Given the description of an element on the screen output the (x, y) to click on. 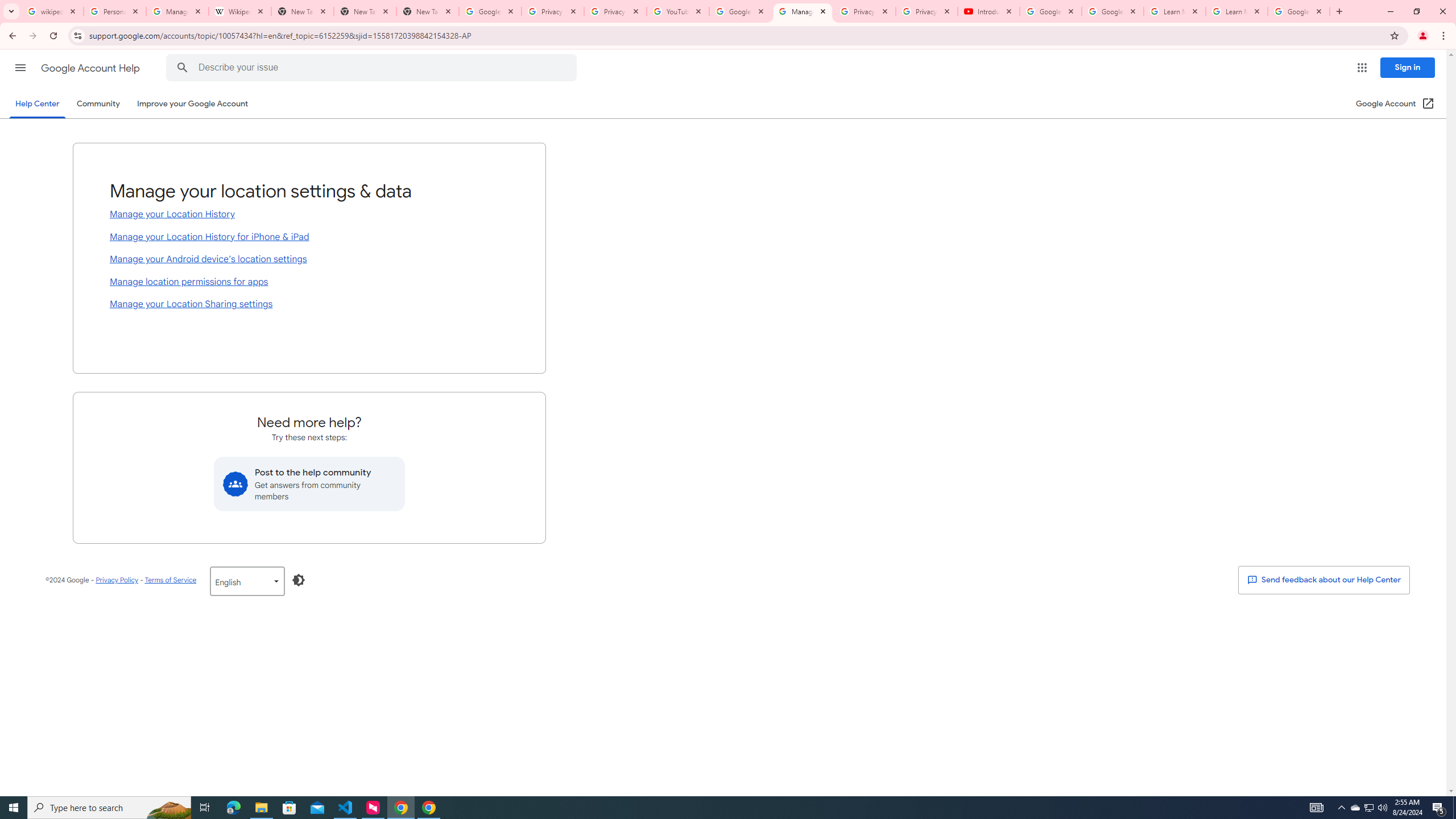
Introduction | Google Privacy Policy - YouTube (988, 11)
Google Account Help (1111, 11)
Manage your Location History for iPhone & iPad (309, 237)
YouTube (678, 11)
Describe your issue (373, 67)
Main menu (20, 67)
